Given the description of an element on the screen output the (x, y) to click on. 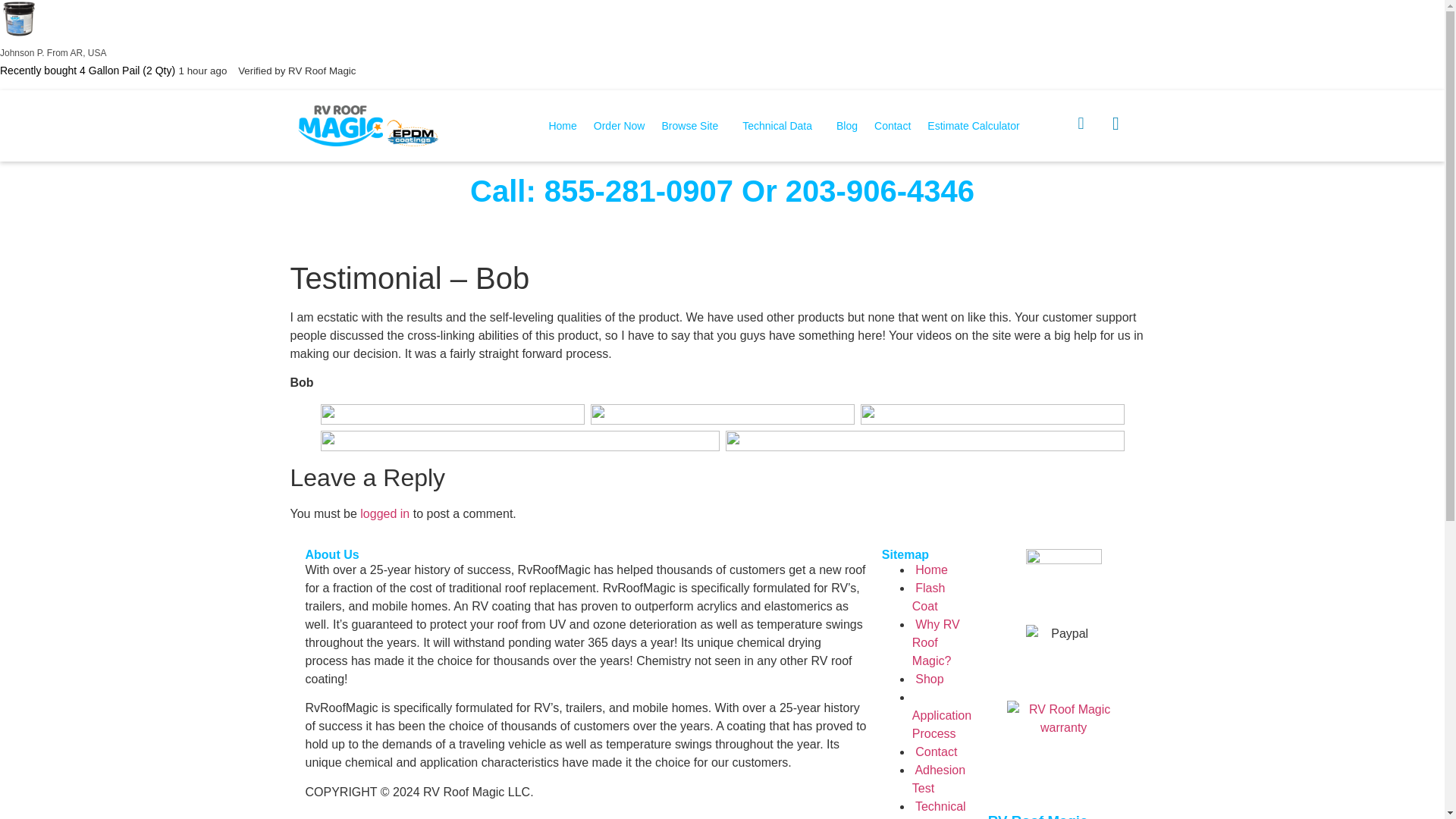
Order Now (619, 125)
Application Process (941, 733)
Browse Site (692, 125)
logged in (384, 513)
Blog (847, 125)
Flash Coat (928, 596)
Why RV Roof Magic? (935, 642)
Technical Data (780, 125)
Technical Data Sheet (939, 809)
Home (929, 569)
Home (562, 125)
Estimate Calculator (972, 125)
Adhesion Test (938, 778)
Contact (935, 751)
Shop (927, 678)
